Given the description of an element on the screen output the (x, y) to click on. 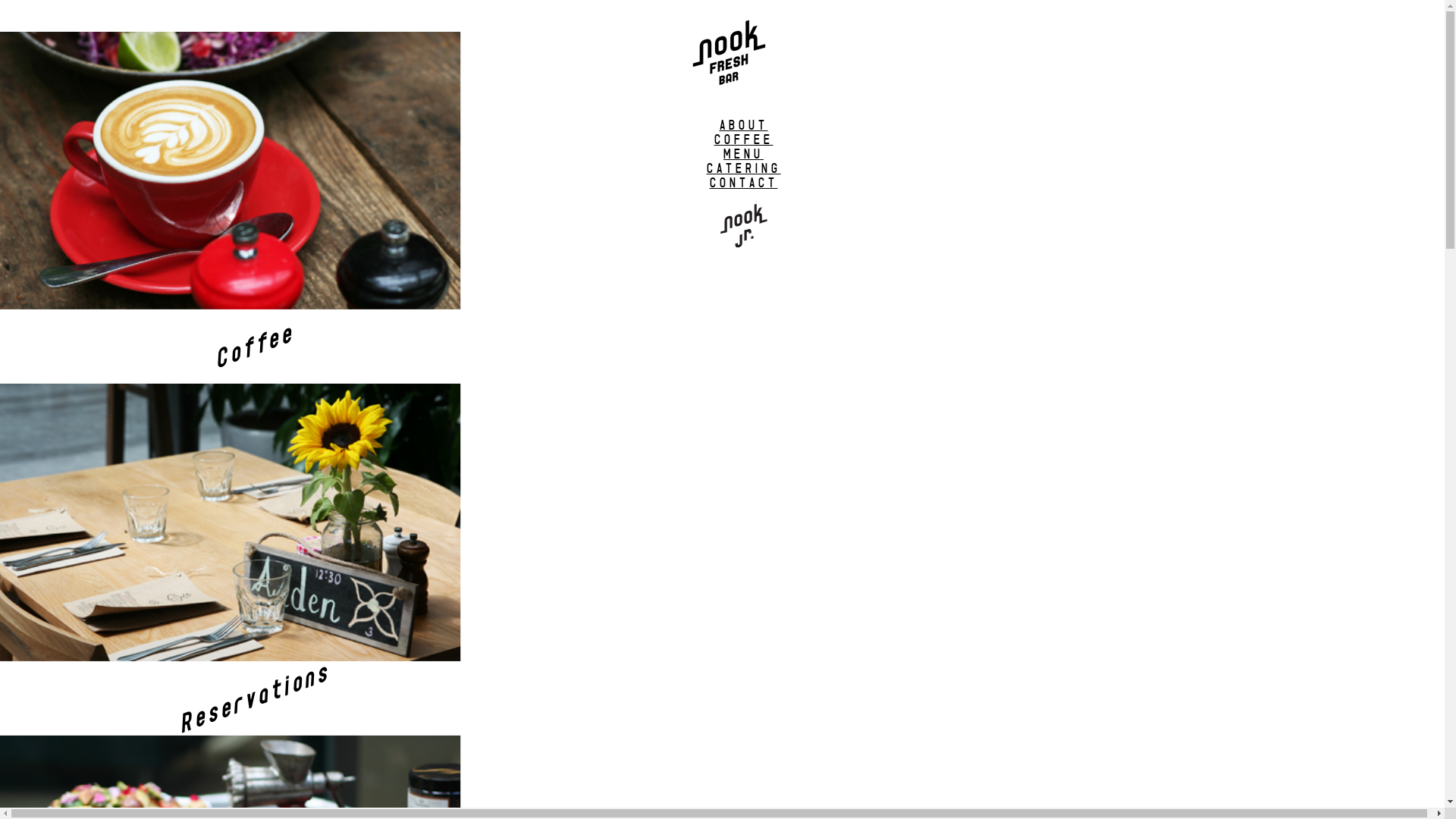
CONTACT Element type: text (743, 182)
ABOUT Element type: text (742, 125)
Coffee Element type: text (290, 244)
MENU Element type: text (743, 154)
Reservations Element type: text (290, 596)
CATERING Element type: text (743, 168)
COFFEE Element type: text (743, 139)
